Given the description of an element on the screen output the (x, y) to click on. 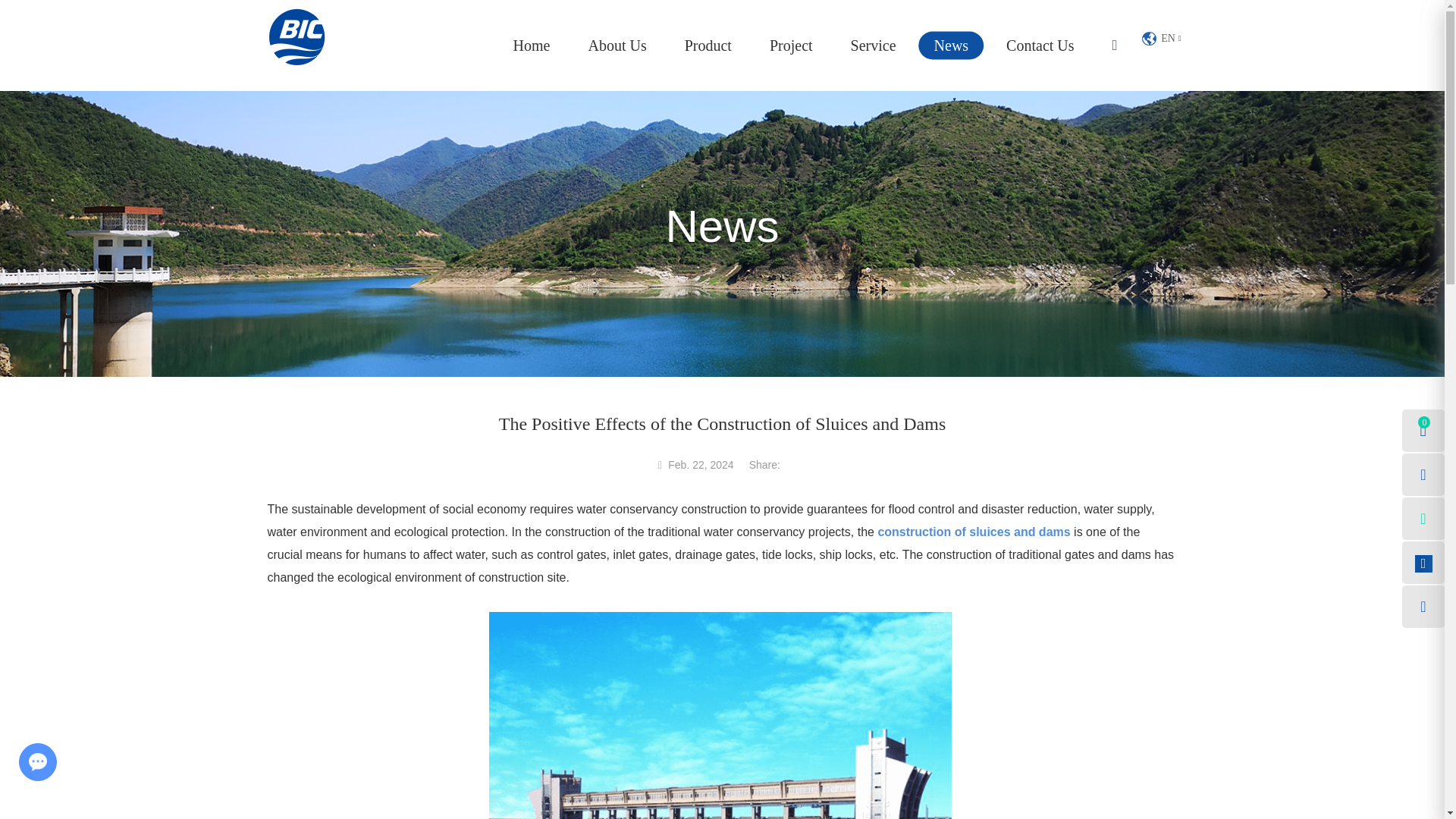
About Us (616, 44)
Project (791, 44)
Service (873, 44)
BEIJING IWHR CORPORATION (296, 36)
Contact Us (1040, 44)
News (951, 44)
Project (791, 44)
Home (531, 44)
About Us (616, 44)
Product (707, 44)
Product (707, 44)
